Given the description of an element on the screen output the (x, y) to click on. 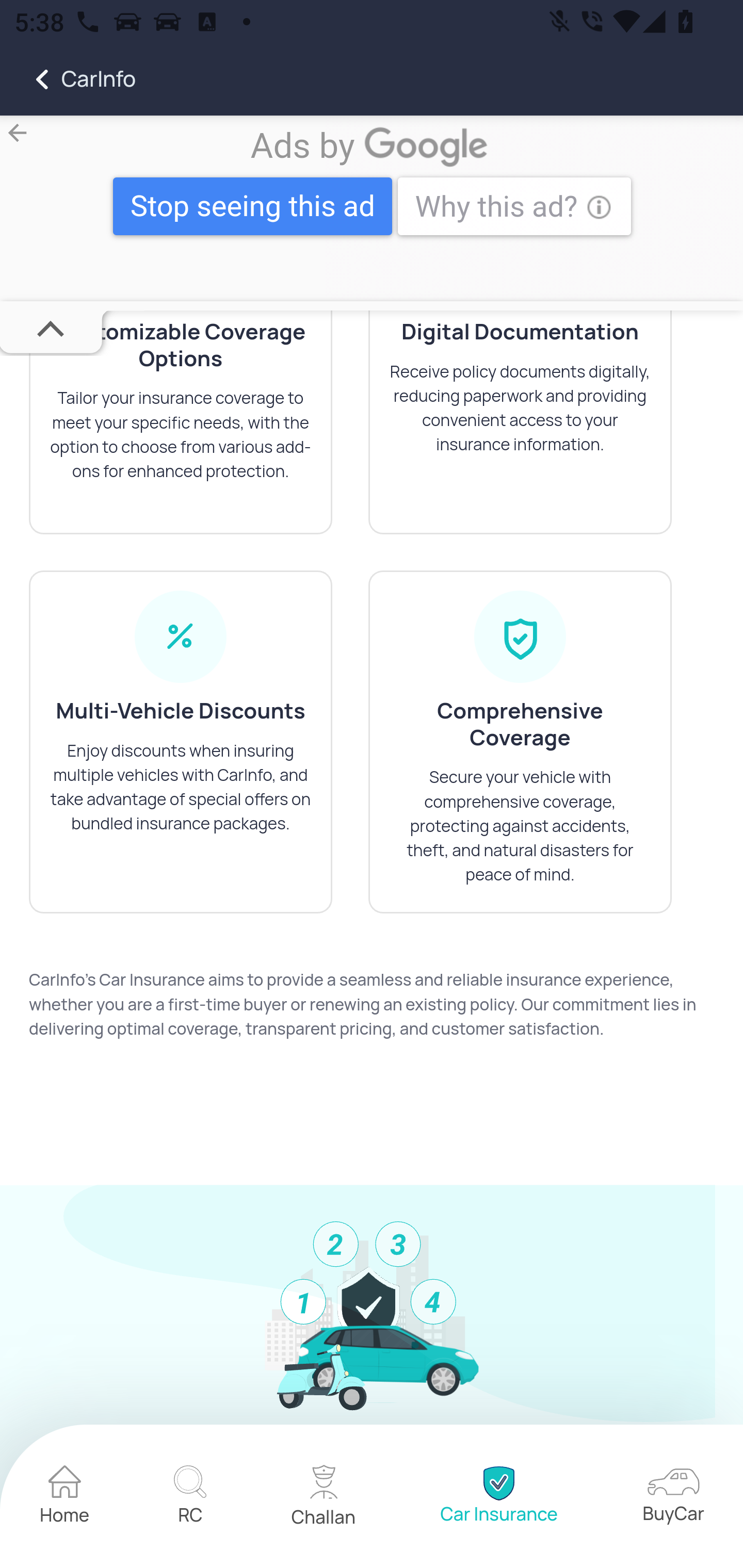
CarInfo (67, 79)
VISIT SITE (371, 210)
home Challan home Challan (323, 1497)
home Home home Home (64, 1498)
home RC home RC (190, 1498)
home Car Insurance home Car Insurance (497, 1498)
home BuyCar home BuyCar (672, 1497)
